Given the description of an element on the screen output the (x, y) to click on. 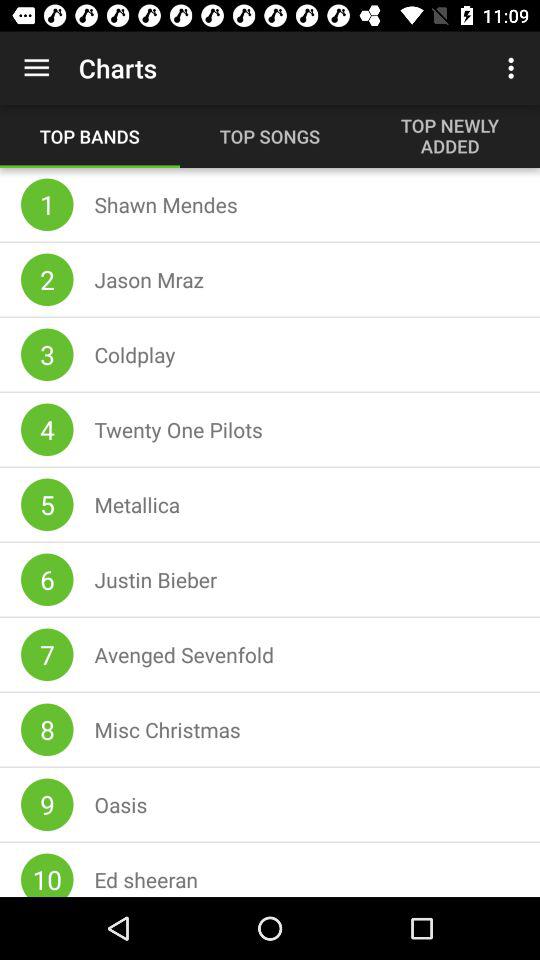
click the icon above ed sheeran icon (120, 804)
